Given the description of an element on the screen output the (x, y) to click on. 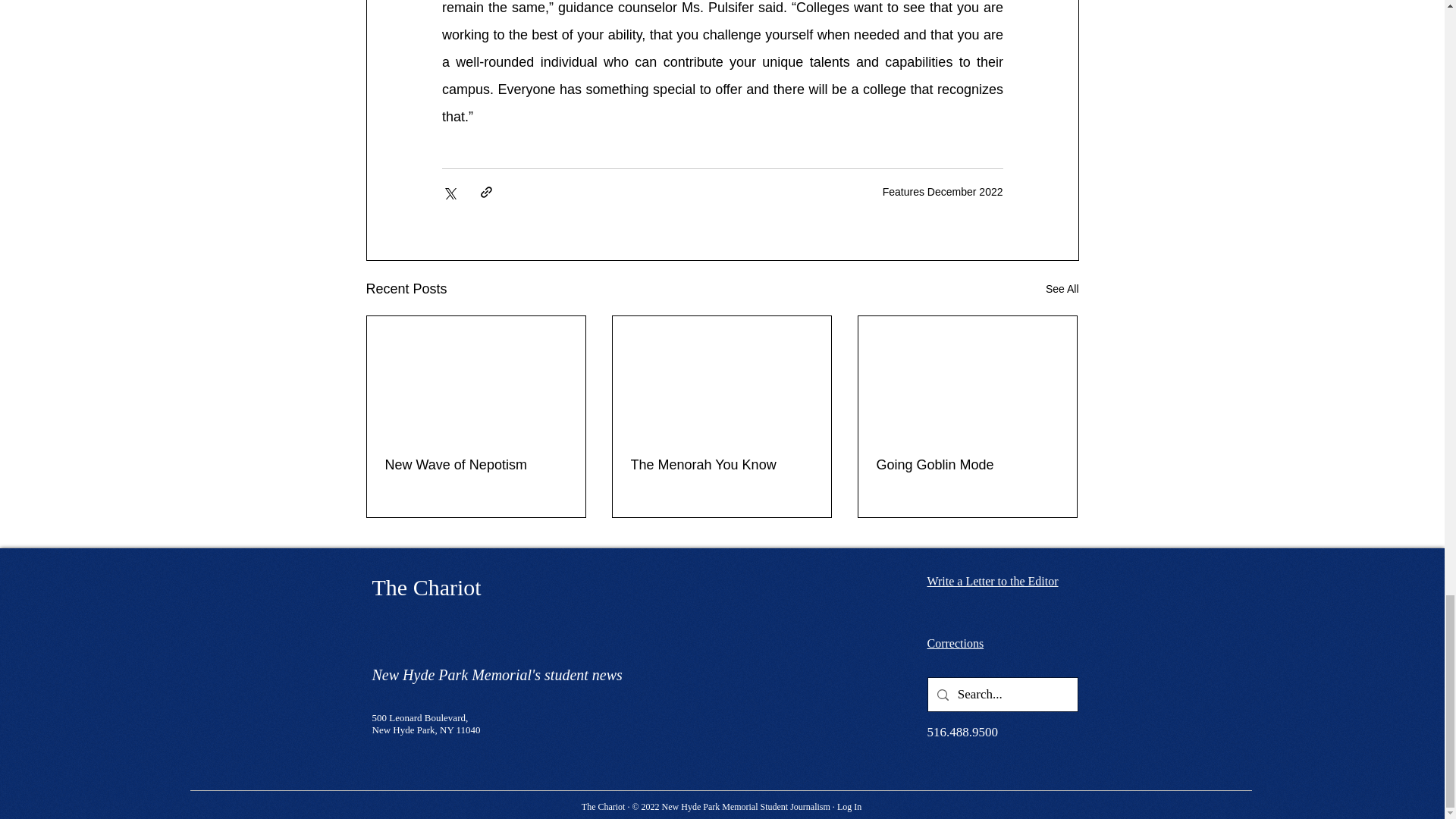
Going Goblin Mode (967, 465)
See All (1061, 289)
Corrections (955, 643)
Write a Letter to the Editor (992, 581)
The Menorah You Know (721, 465)
New Wave of Nepotism (476, 465)
Features December 2022 (942, 191)
Log In (849, 806)
